Given the description of an element on the screen output the (x, y) to click on. 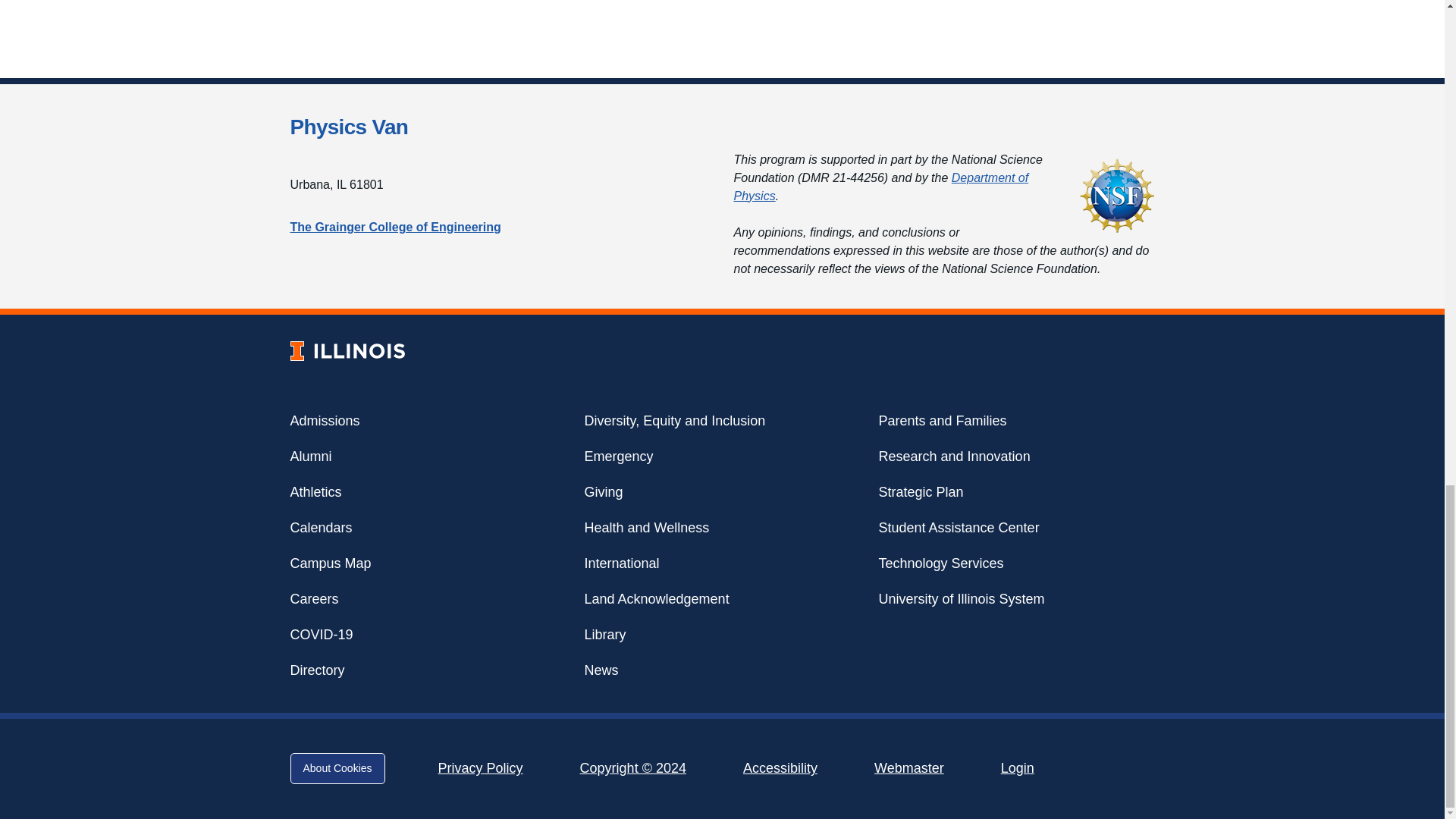
Physics Van (348, 126)
